Given the description of an element on the screen output the (x, y) to click on. 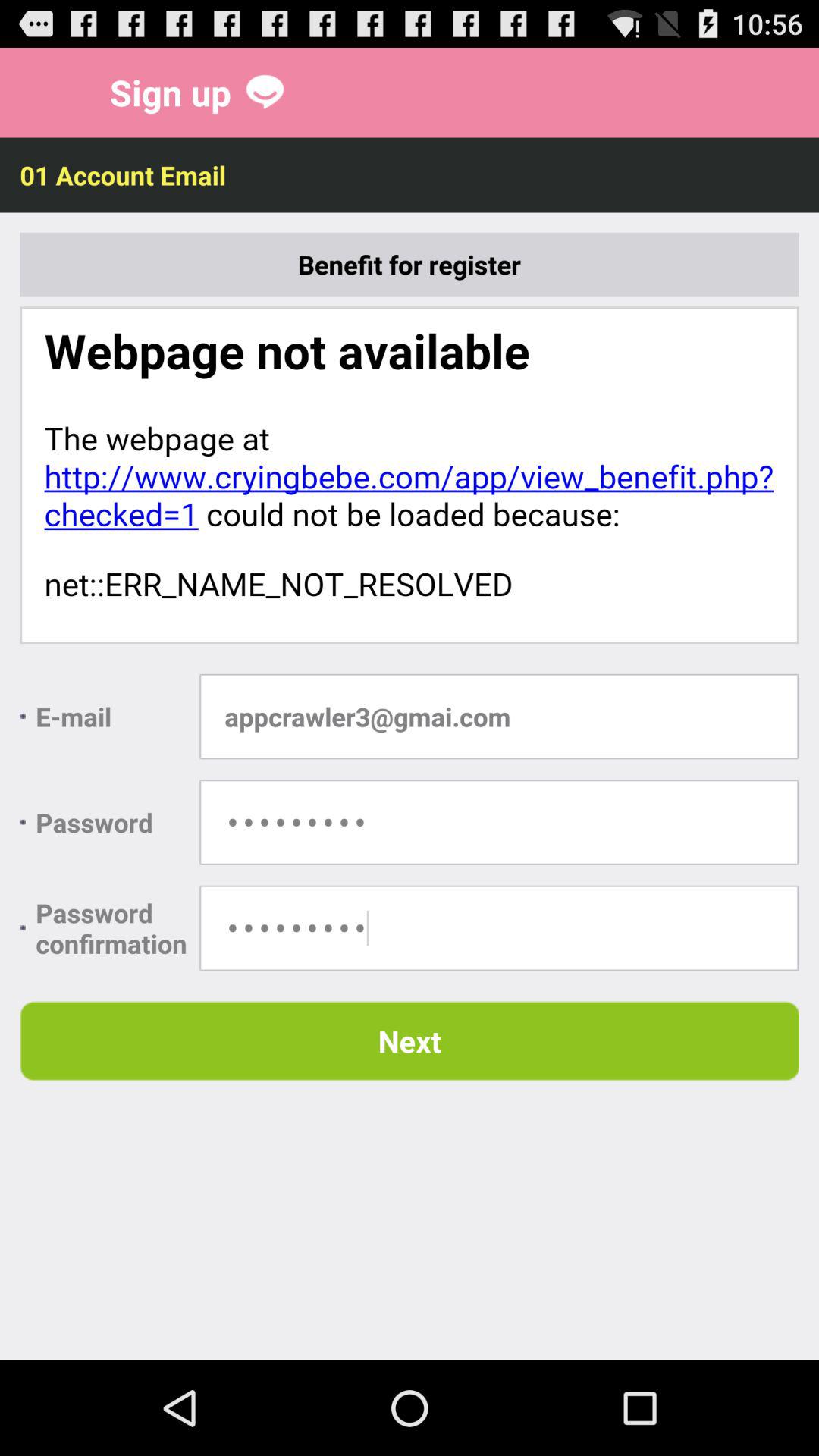
select the password confirmation field (498, 928)
